Given the description of an element on the screen output the (x, y) to click on. 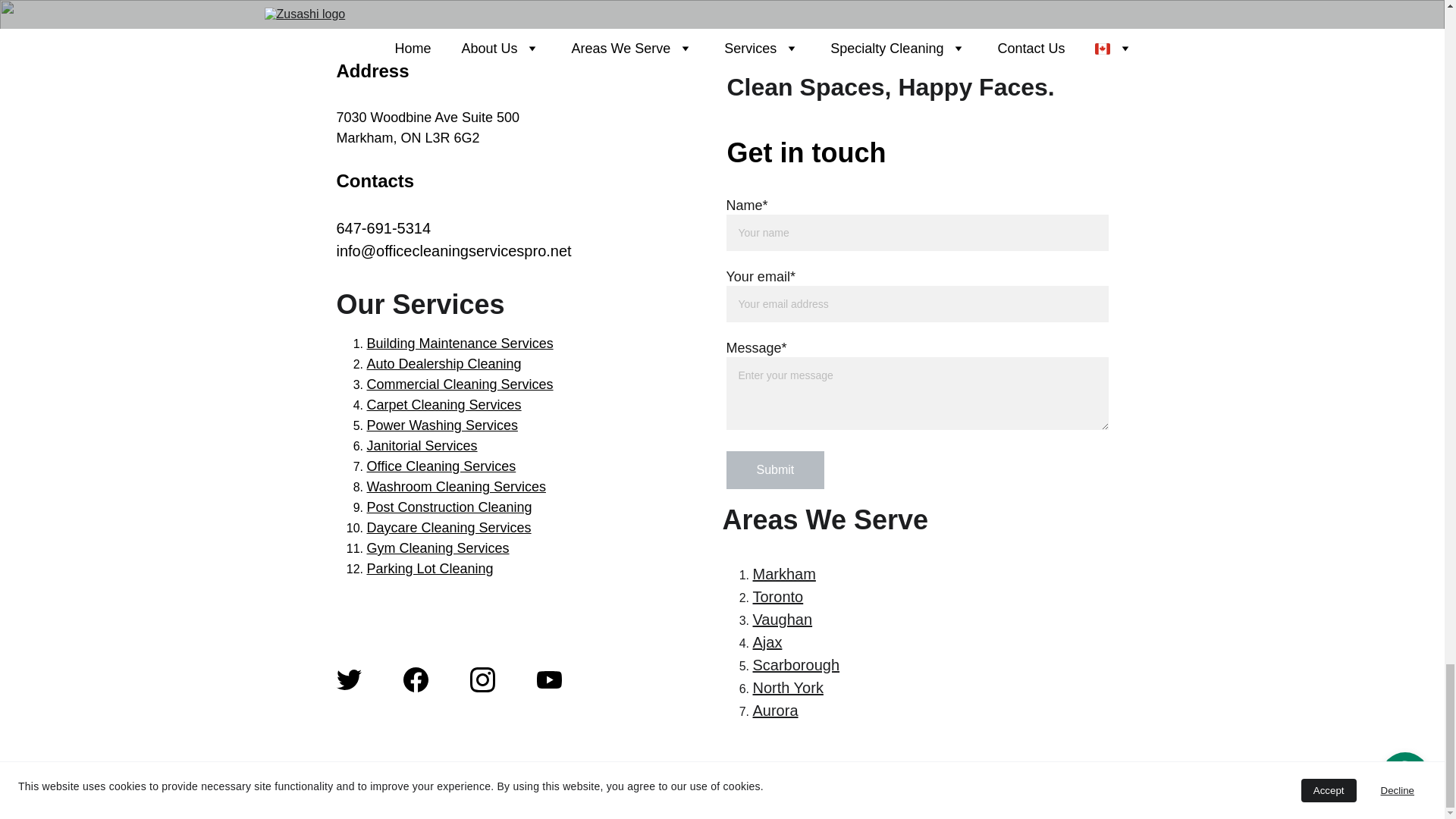
Go to Youtube page (549, 679)
Go to Instagram page (482, 679)
Go to Twitter page (348, 679)
Go to Facebook page (415, 679)
